Given the description of an element on the screen output the (x, y) to click on. 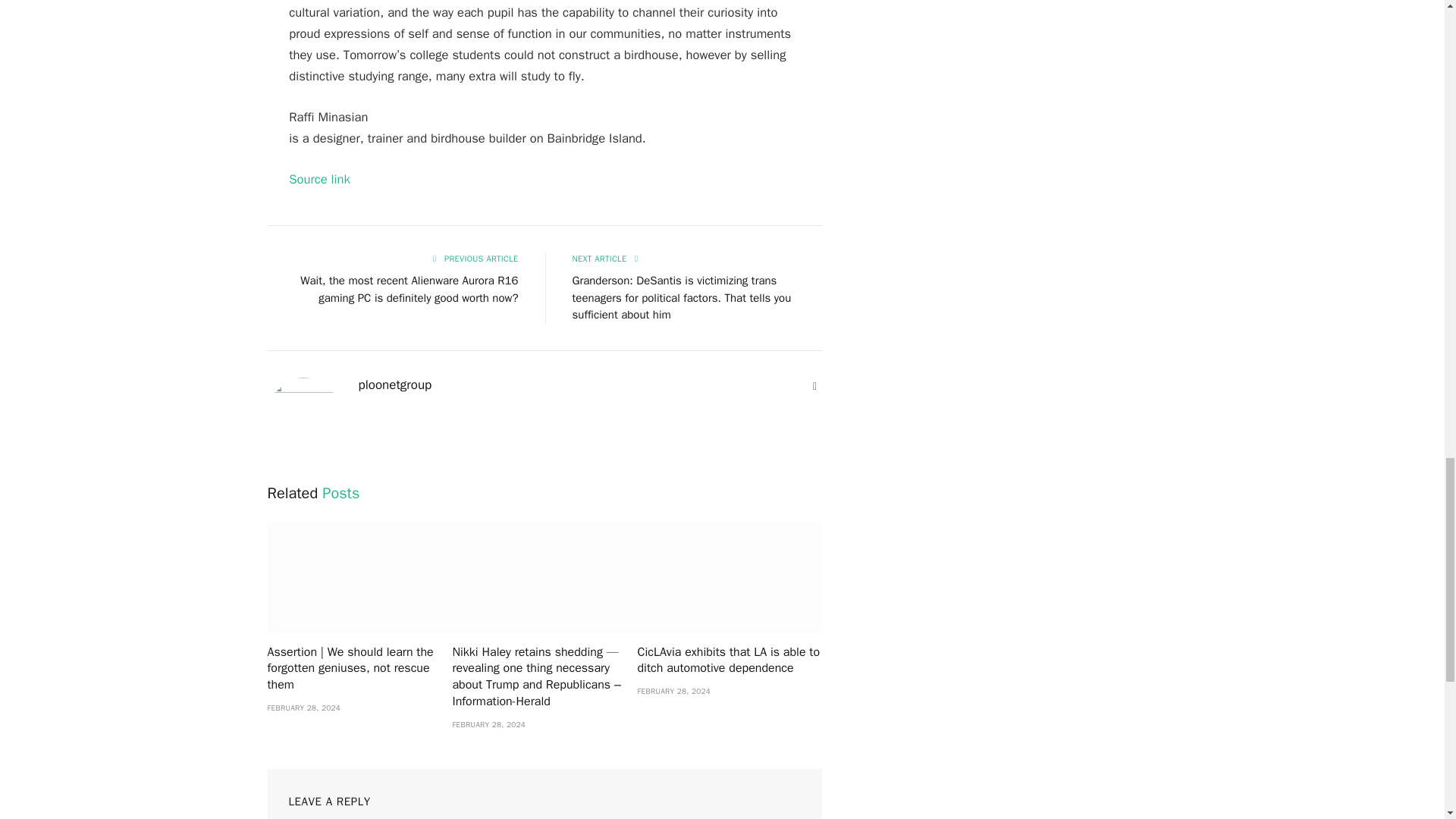
Website (814, 386)
Posts by ploonetgroup (394, 385)
